Given the description of an element on the screen output the (x, y) to click on. 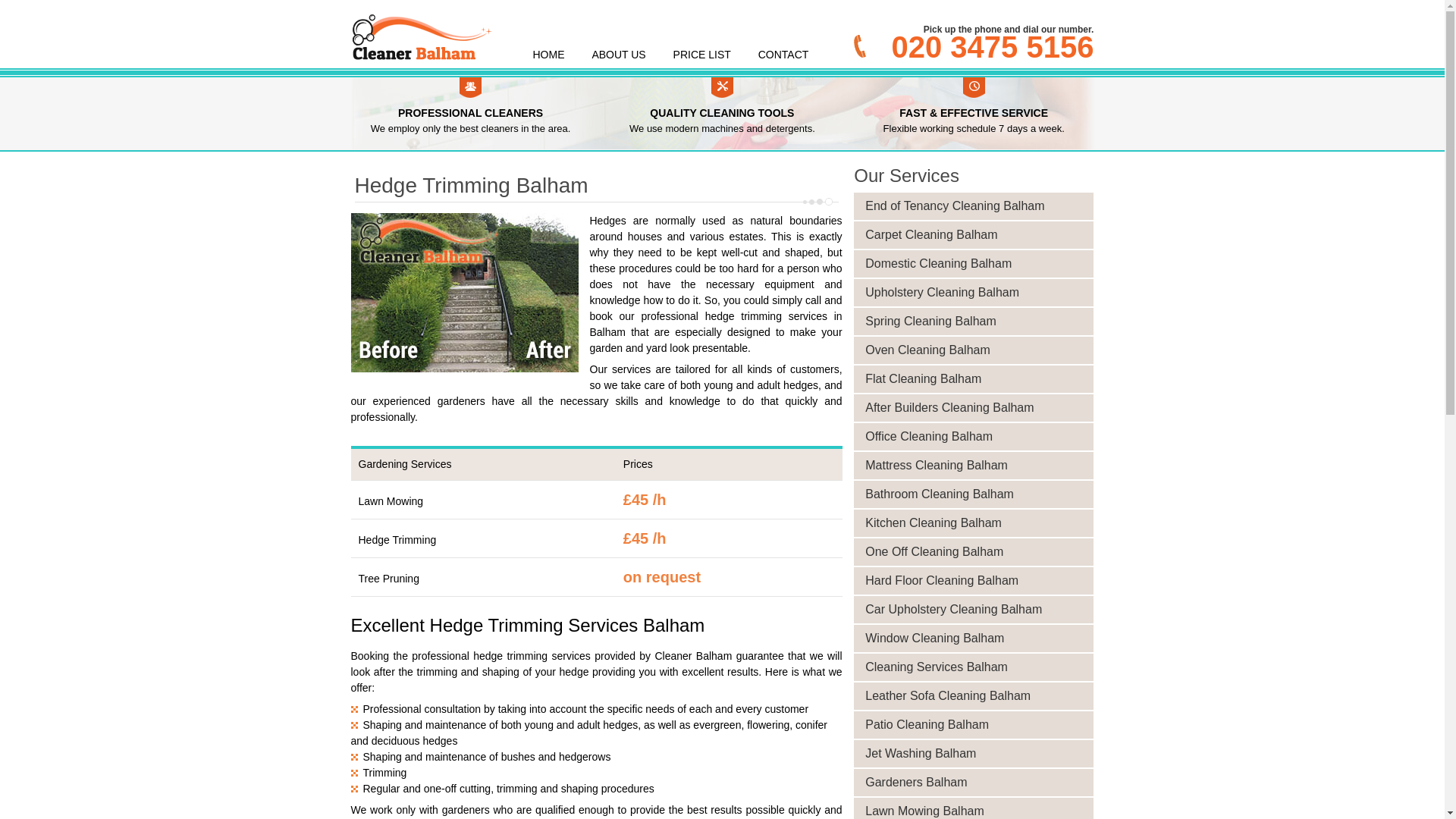
Upholstery Cleaning Balham (978, 292)
Jet Washing Balham (978, 753)
Leather Sofa Cleaning Balham (978, 696)
HOME (548, 54)
Office Cleaning Balham (978, 436)
ABOUT US (617, 54)
Lawn Mowing Balham (978, 810)
Car Upholstery Cleaning Balham (978, 609)
Window Cleaning Balham (978, 638)
End of Tenancy Cleaning Balham (978, 206)
